Given the description of an element on the screen output the (x, y) to click on. 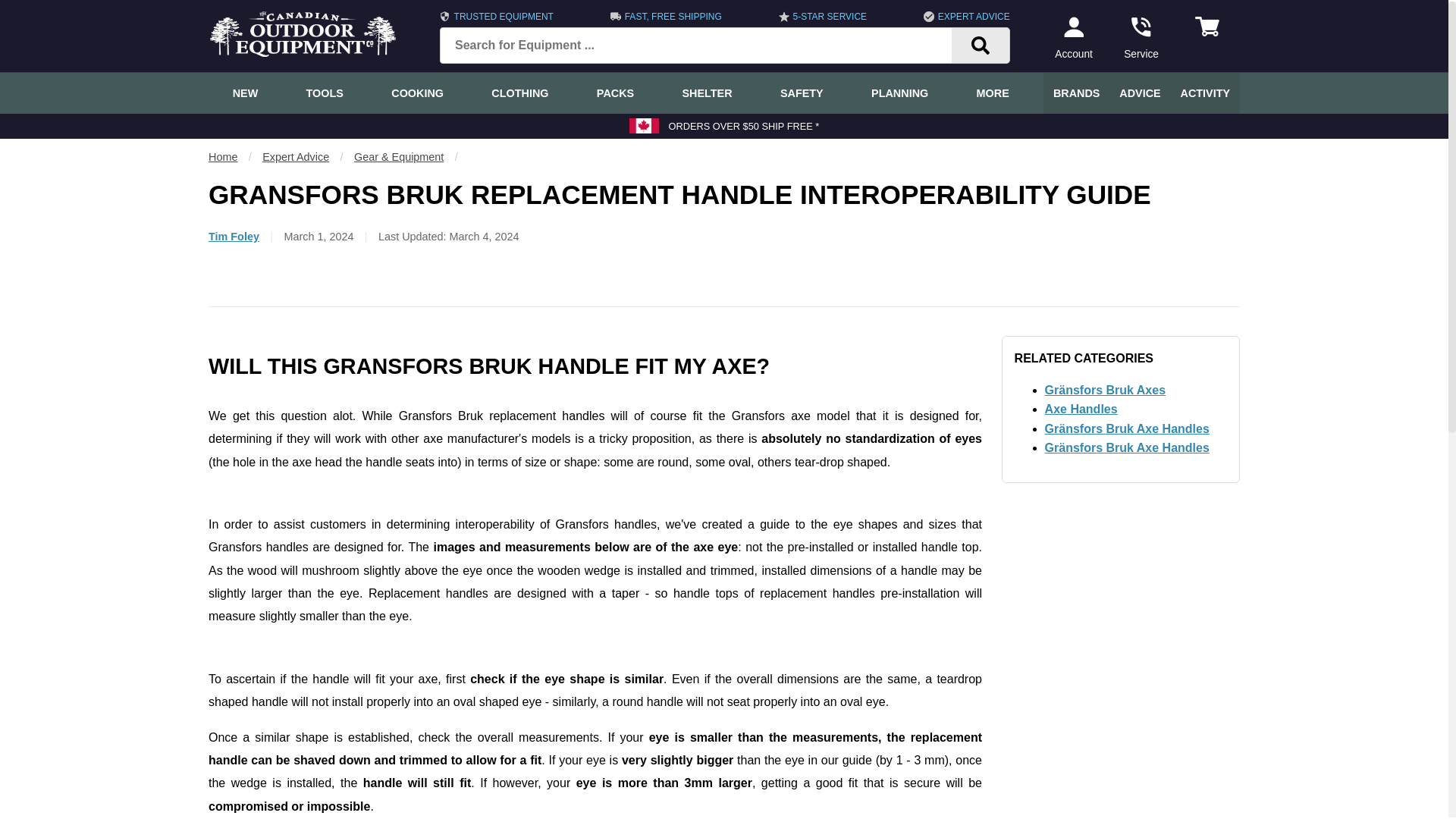
MORE (992, 93)
Your Account (1072, 36)
NEW (245, 93)
ADVICE (1139, 93)
SAFETY (801, 93)
Expert Advice (295, 157)
CLOTHING (520, 93)
Search for Equipment ... (707, 45)
Expert Advice (1139, 93)
Your Shopping Cart (1206, 36)
Axe Handles (1081, 408)
Service (1141, 36)
Home (222, 157)
COOKING (417, 93)
The Canadian Outdoor Equipment Co. (302, 51)
